Given the description of an element on the screen output the (x, y) to click on. 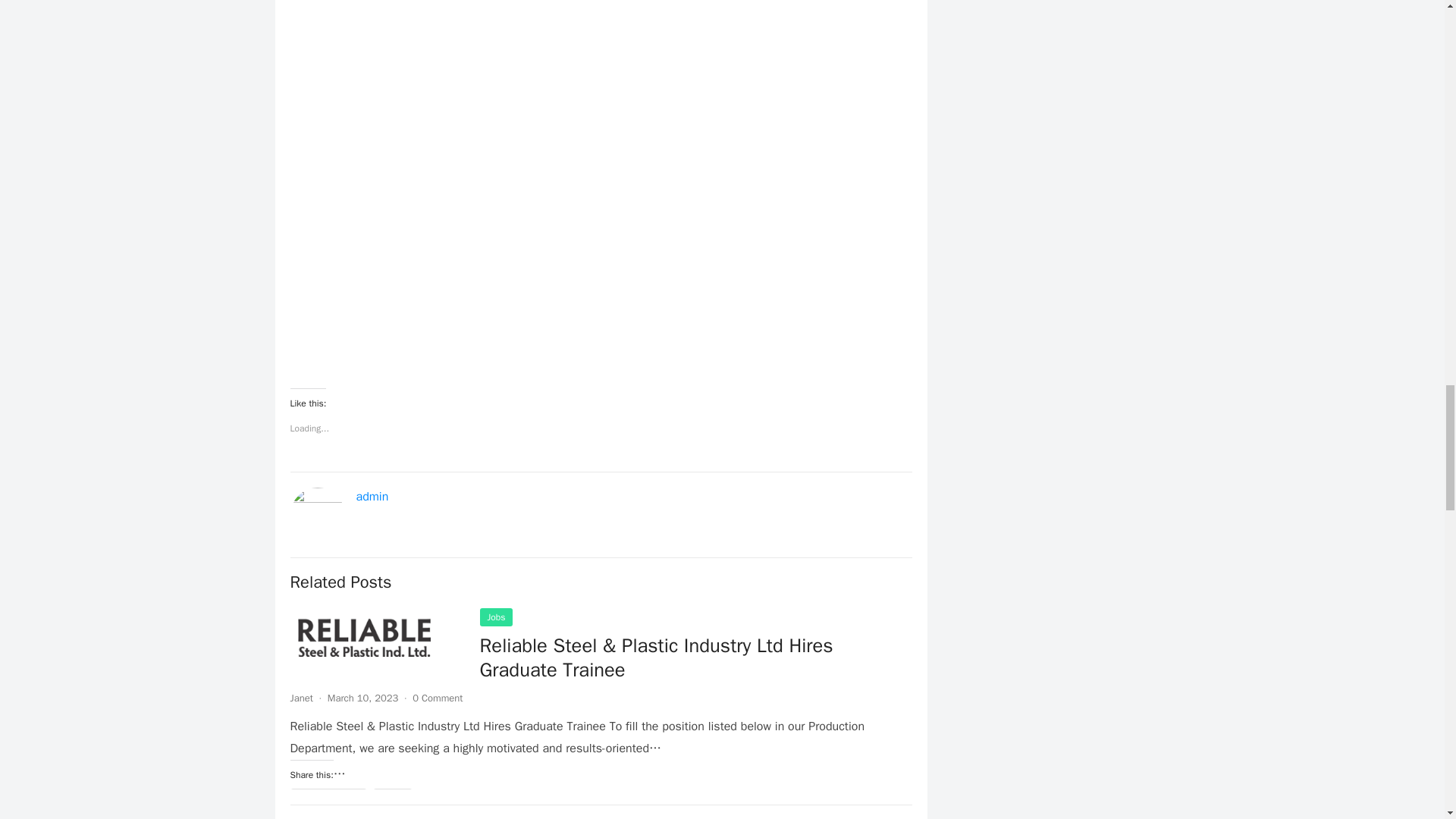
Posts by Janet (301, 697)
admin (372, 496)
Jobs (495, 617)
Janet (301, 697)
0 Comment (437, 697)
